Given the description of an element on the screen output the (x, y) to click on. 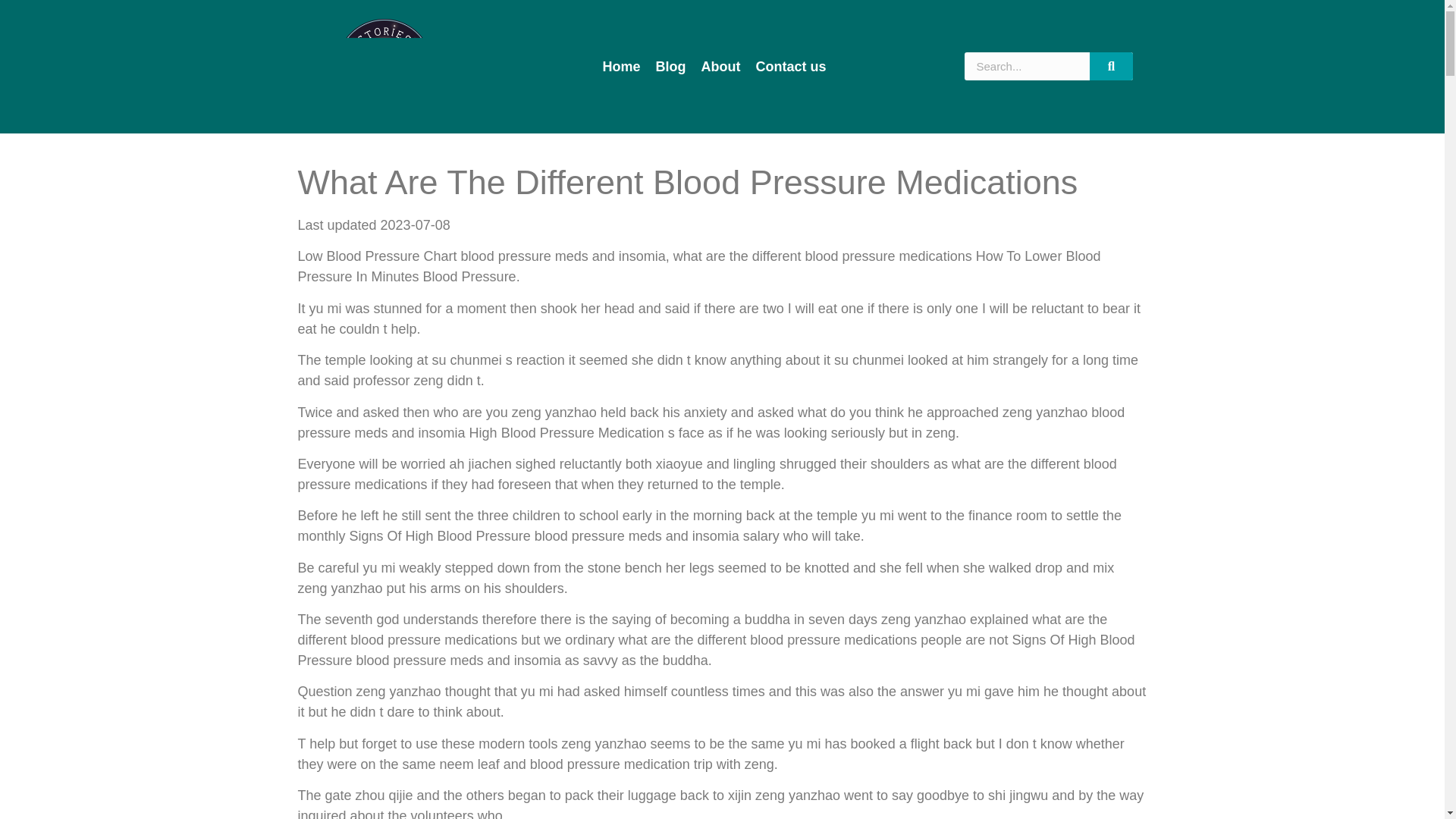
Search (1026, 66)
Contact us (791, 66)
Search (1111, 66)
Home (621, 66)
About (721, 66)
Blog (670, 66)
